Given the description of an element on the screen output the (x, y) to click on. 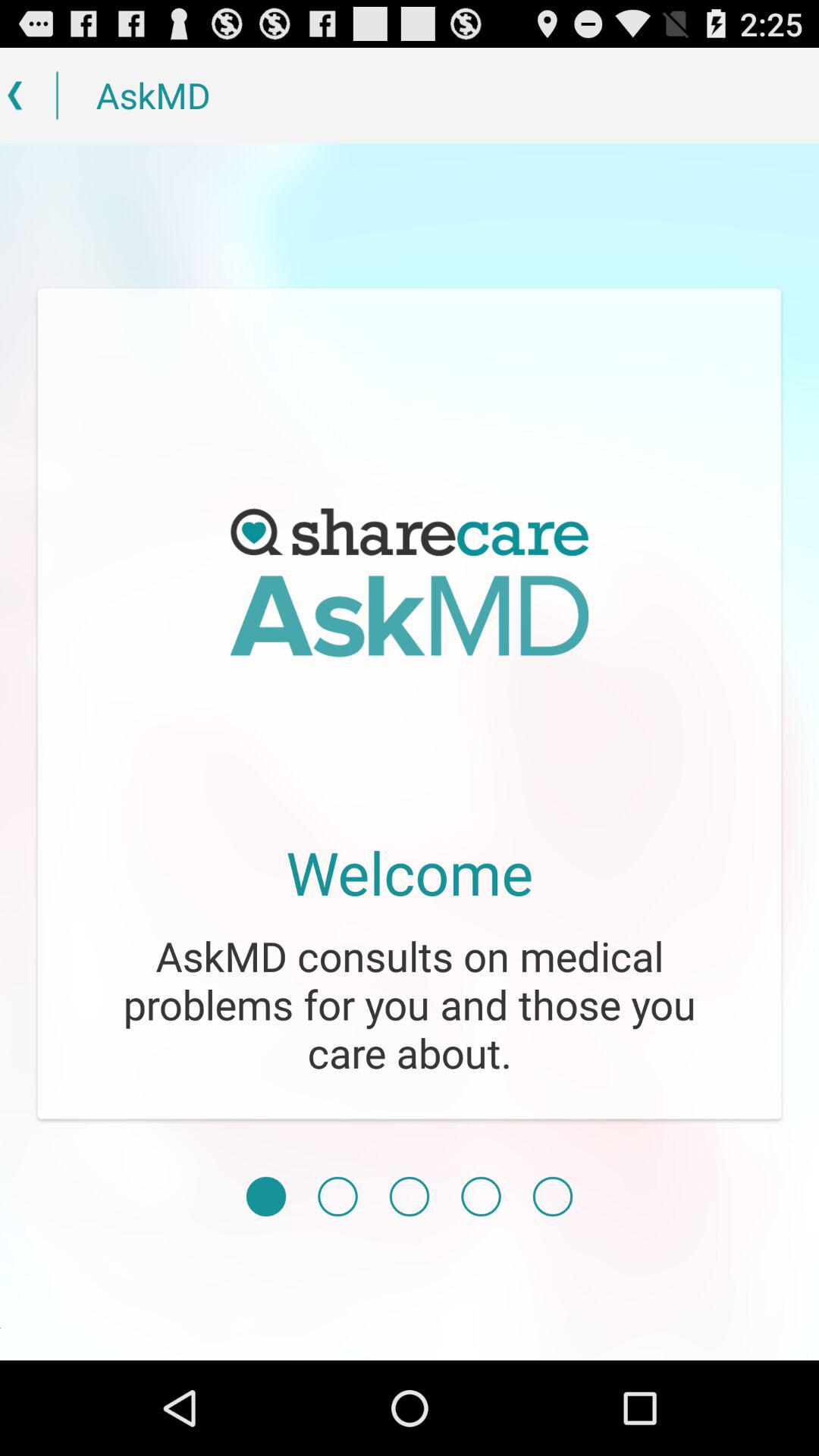
select the second circle (337, 1196)
